Given the description of an element on the screen output the (x, y) to click on. 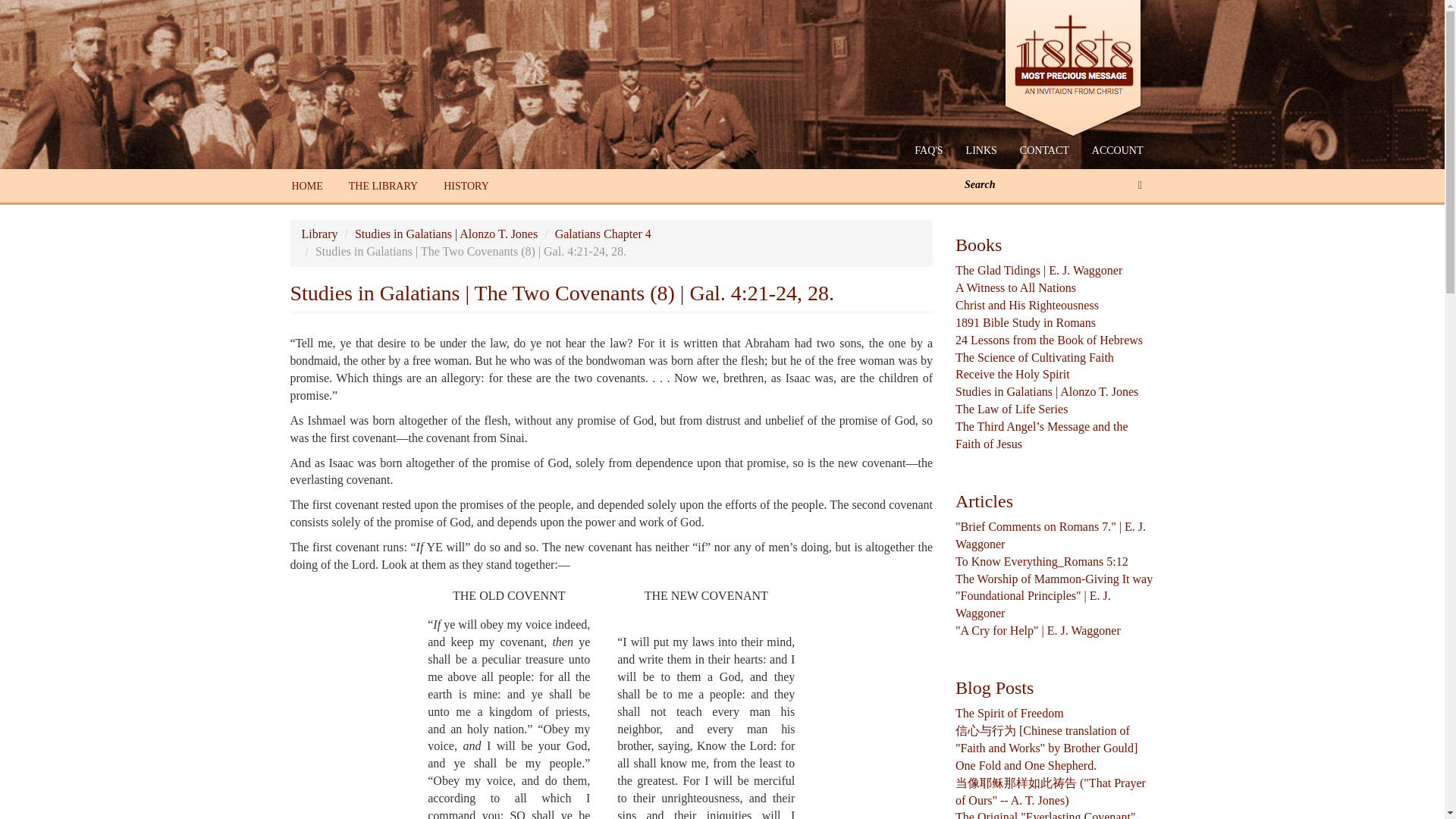
HOME (307, 185)
Library (319, 233)
ACCOUNT (1117, 150)
HISTORY (466, 185)
THE LIBRARY (383, 185)
Galatians Chapter 4 (602, 233)
LINKS (982, 150)
CONTACT (1044, 150)
FAQ'S (927, 150)
Home (1078, 70)
